Given the description of an element on the screen output the (x, y) to click on. 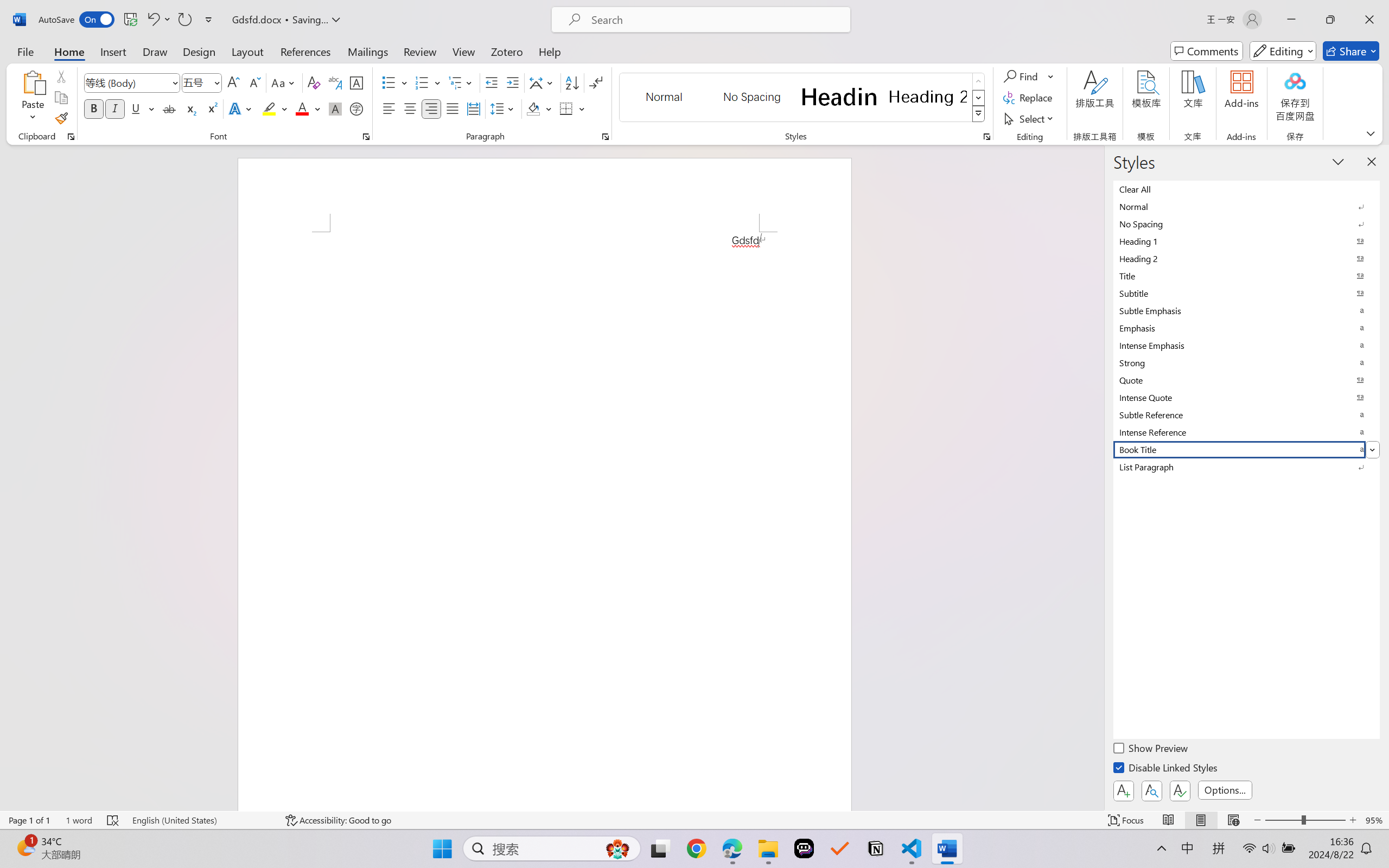
Subtle Emphasis (1246, 310)
Align Left (388, 108)
Align Right (431, 108)
Class: MsoCommandBar (694, 819)
Font Color Red (302, 108)
Undo Style (158, 19)
Increase Indent (512, 82)
